Given the description of an element on the screen output the (x, y) to click on. 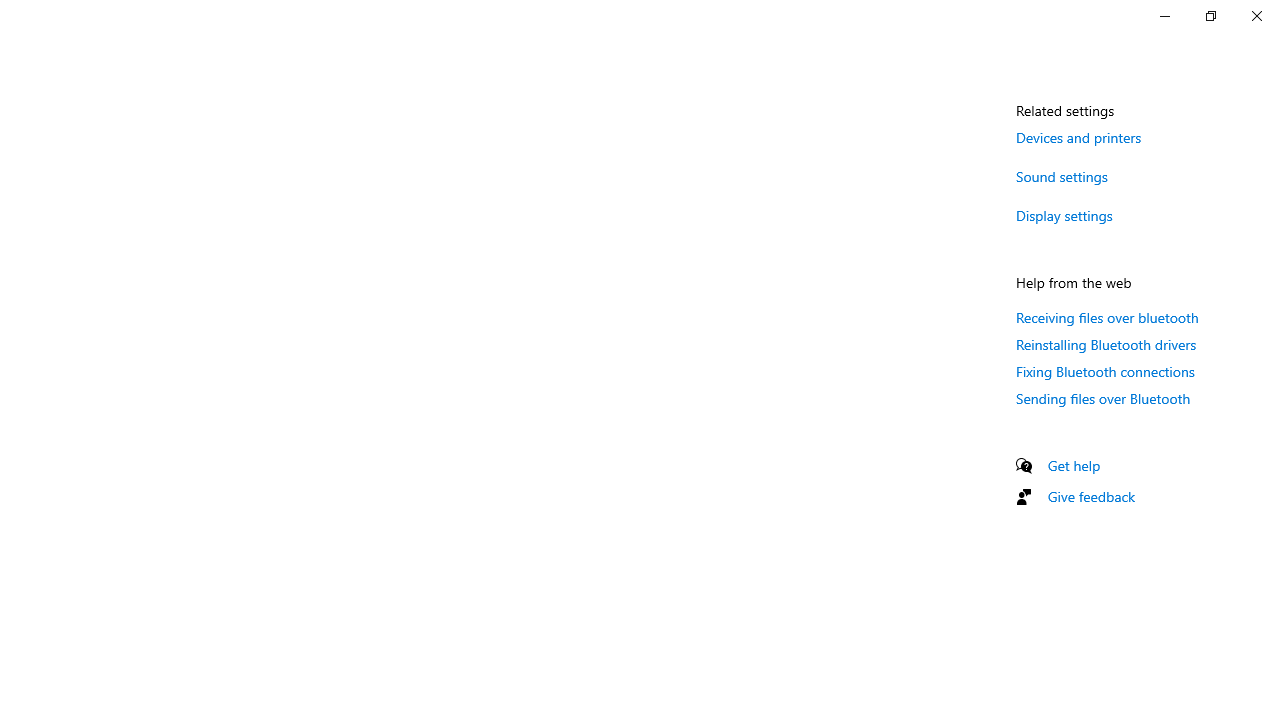
Sending files over Bluetooth (1103, 398)
Minimize Settings (1164, 15)
Display settings (1064, 214)
Give feedback (1091, 496)
Restore Settings (1210, 15)
Sound settings (1062, 176)
Devices and printers (1078, 137)
Close Settings (1256, 15)
Fixing Bluetooth connections (1105, 371)
Receiving files over bluetooth (1107, 317)
Get help (1074, 465)
Reinstalling Bluetooth drivers (1106, 344)
